Given the description of an element on the screen output the (x, y) to click on. 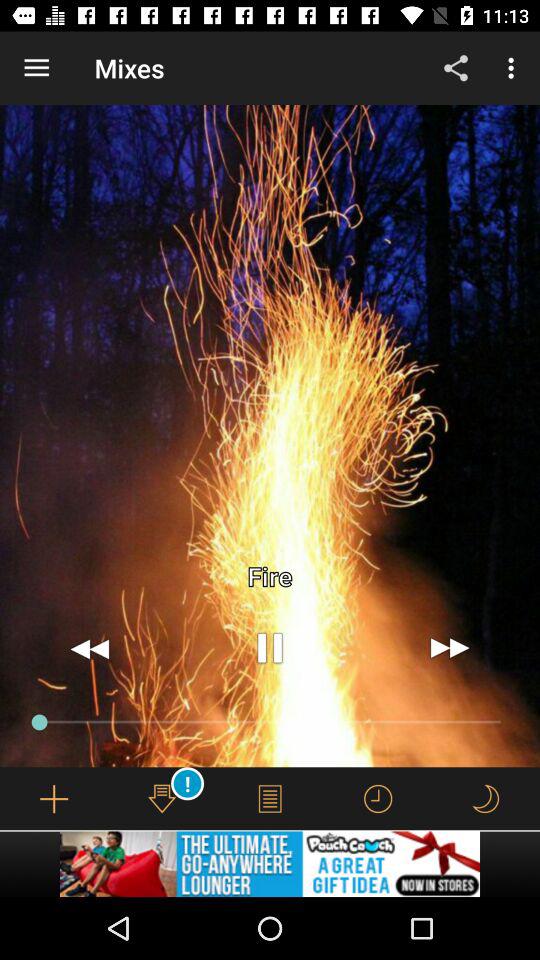
turn down brightness (485, 798)
